Given the description of an element on the screen output the (x, y) to click on. 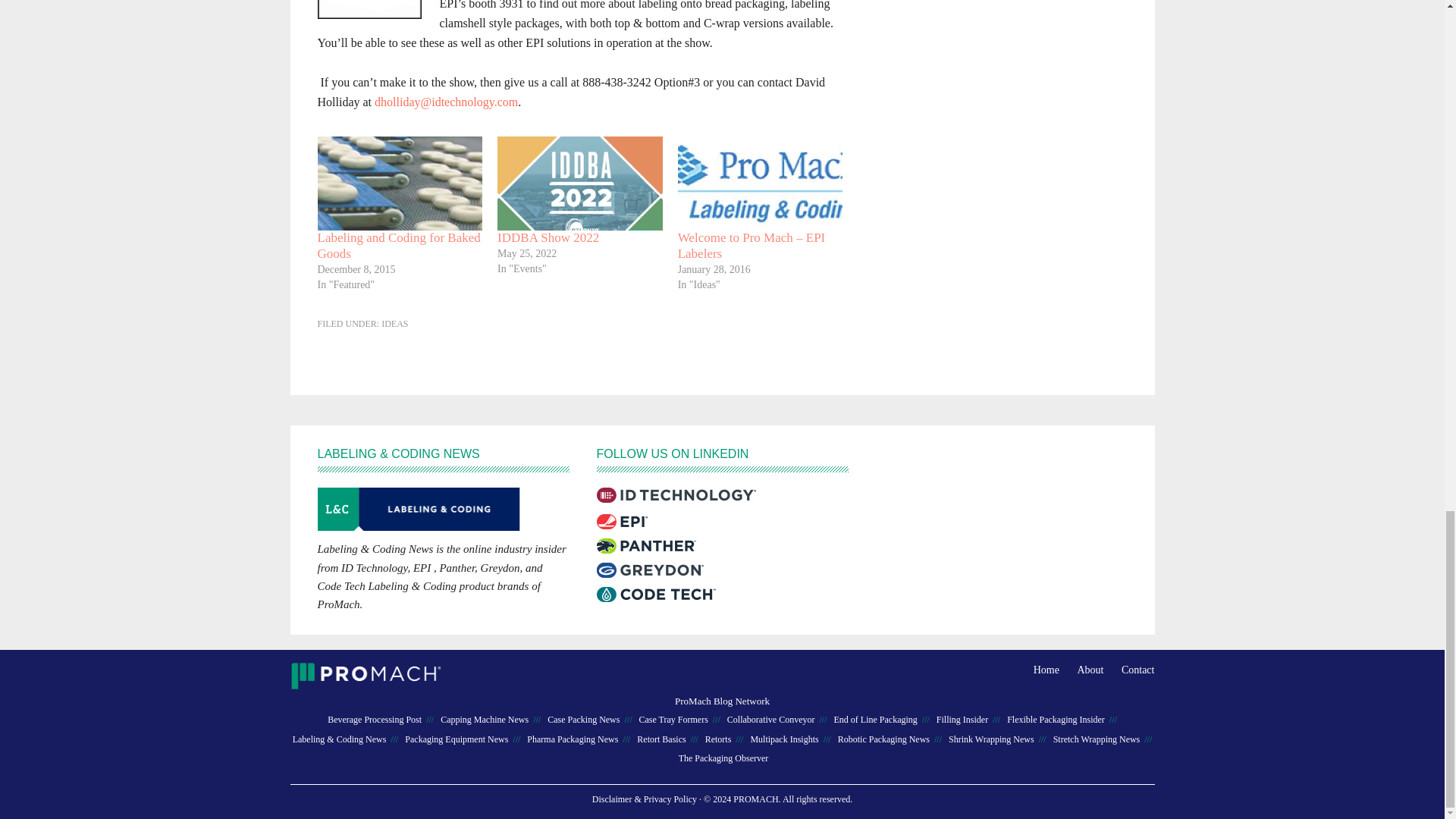
Labeling and Coding for Baked Goods (399, 182)
IDDBA Show 2022 (547, 237)
Labeling and Coding for Baked Goods (398, 245)
IDDBA Show 2022 (579, 182)
